Given the description of an element on the screen output the (x, y) to click on. 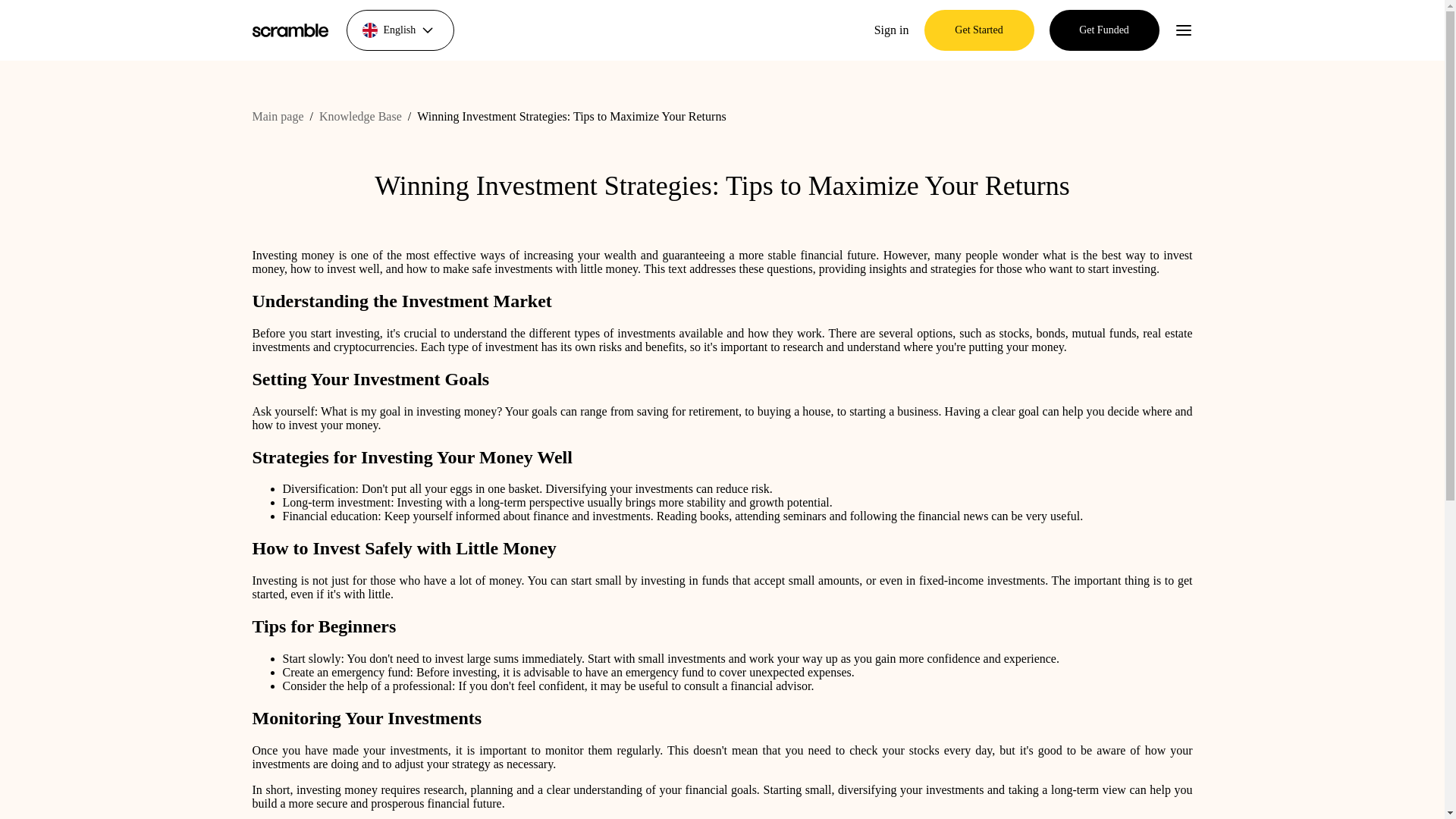
English (399, 29)
Main page (276, 115)
Get Funded (1103, 29)
Get Started (978, 29)
Sign in (891, 29)
Knowledge Base (359, 115)
